Given the description of an element on the screen output the (x, y) to click on. 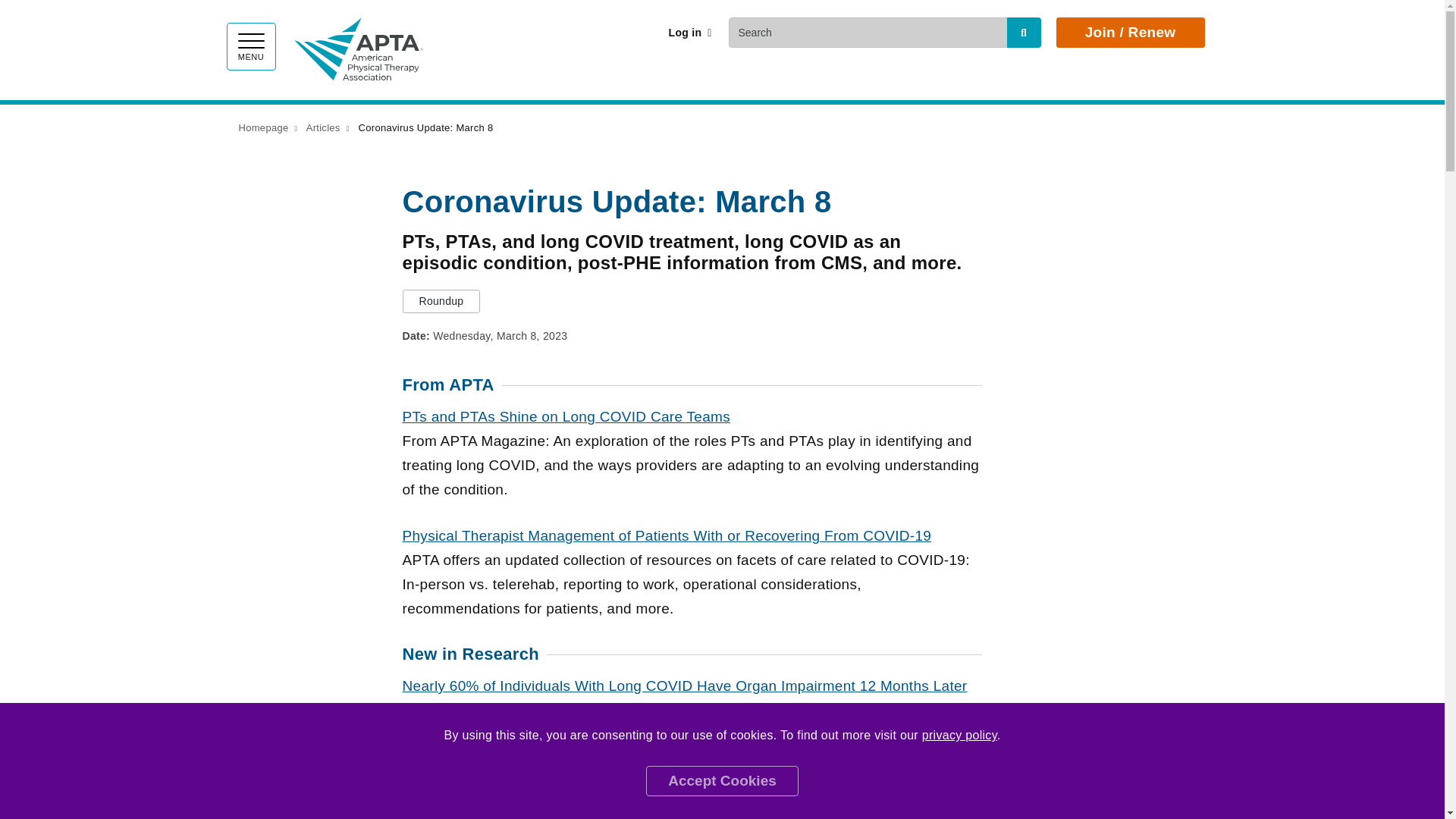
privacy policy (959, 735)
research abstract (683, 685)
MENU (250, 46)
APTA resource list (666, 535)
APTA (358, 46)
APTA magazine online article (565, 416)
